Given the description of an element on the screen output the (x, y) to click on. 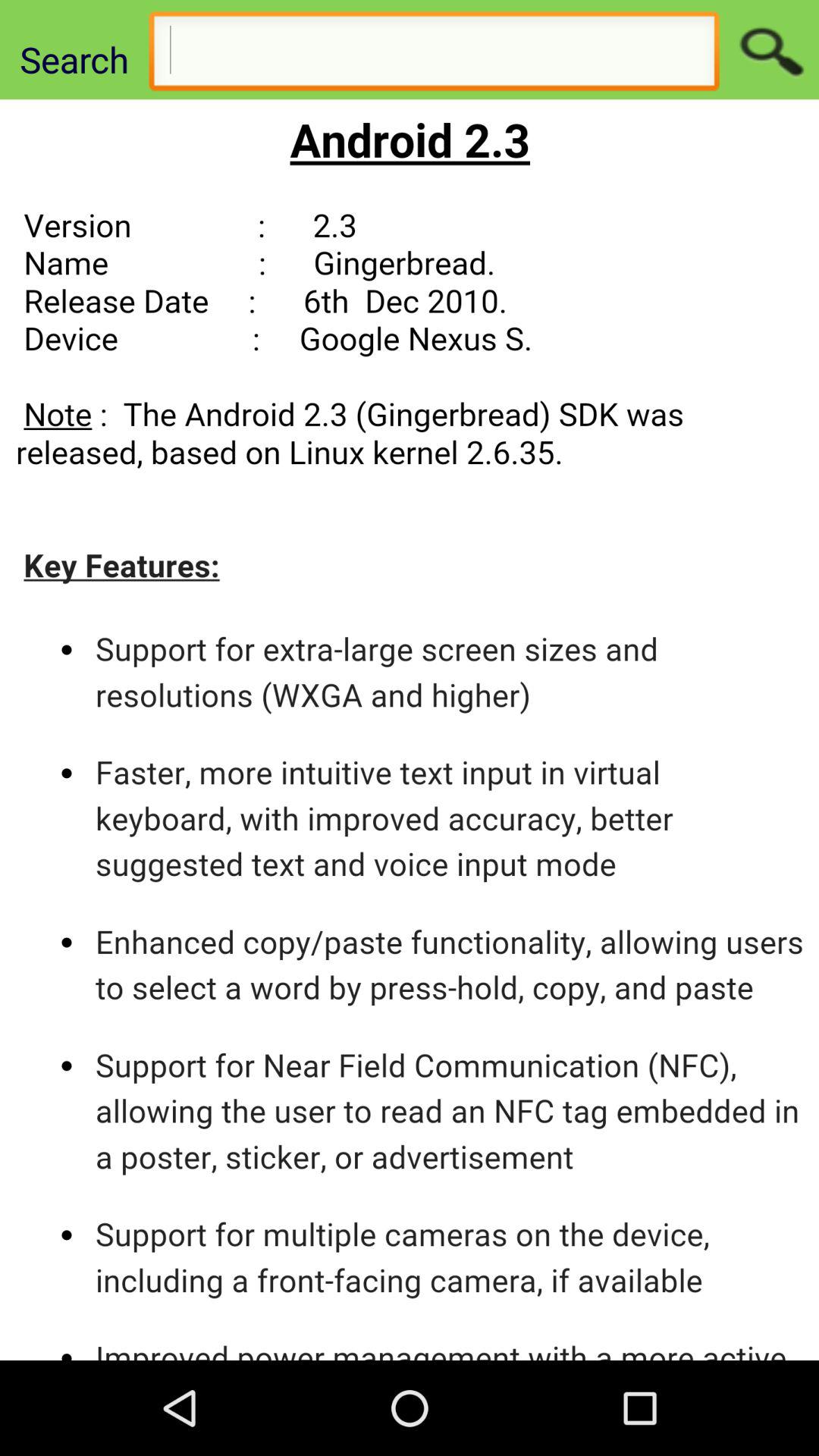
go to search (769, 49)
